Given the description of an element on the screen output the (x, y) to click on. 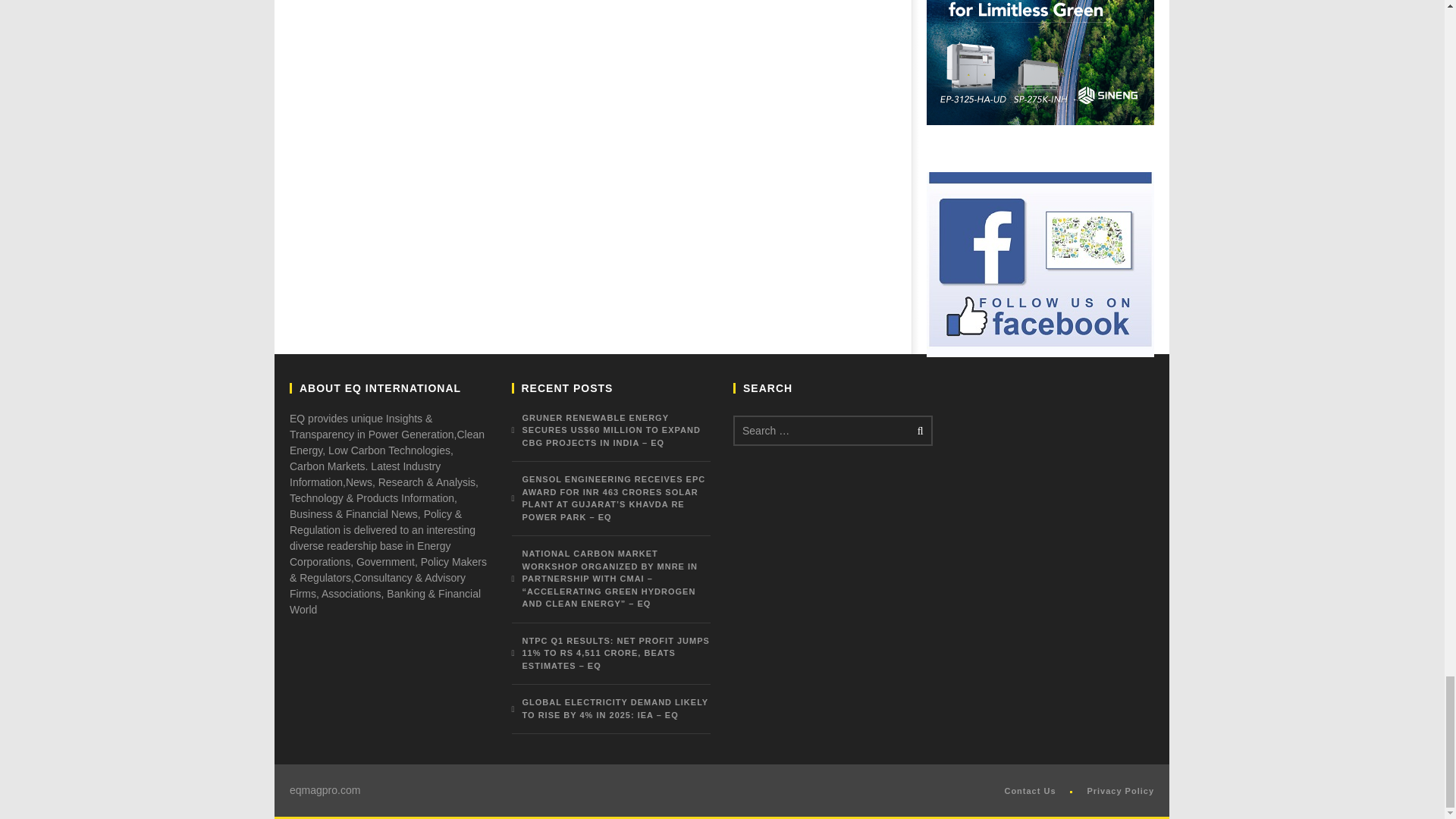
Search (917, 430)
Search (917, 430)
